Given the description of an element on the screen output the (x, y) to click on. 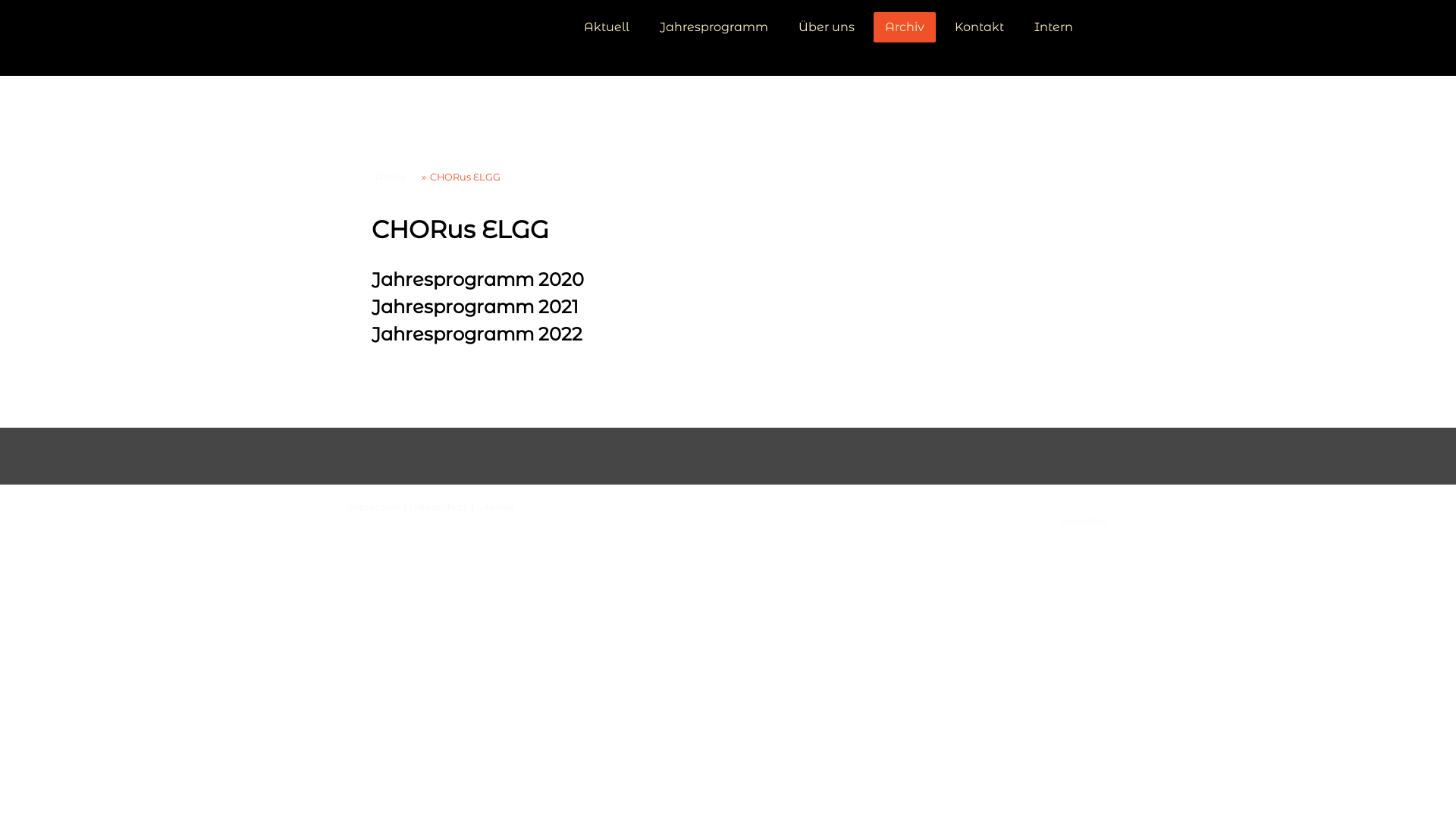
Aktuell Element type: text (606, 27)
CHORus ELGG Element type: text (460, 176)
Archiv Element type: text (904, 27)
Kontakt Element type: text (979, 27)
Sitemap Element type: text (495, 506)
Impressum Element type: text (374, 506)
Archiv Element type: text (388, 176)
Jahresprogramm 2021 Element type: text (474, 308)
Intern Element type: text (1053, 27)
Jahresprogramm Element type: text (713, 27)
Jahresprogramm 2022 Element type: text (476, 336)
Jahresprogramm 2020 Element type: text (477, 281)
Anmelden Element type: text (1083, 520)
Datenschutz Element type: text (438, 506)
